Given the description of an element on the screen output the (x, y) to click on. 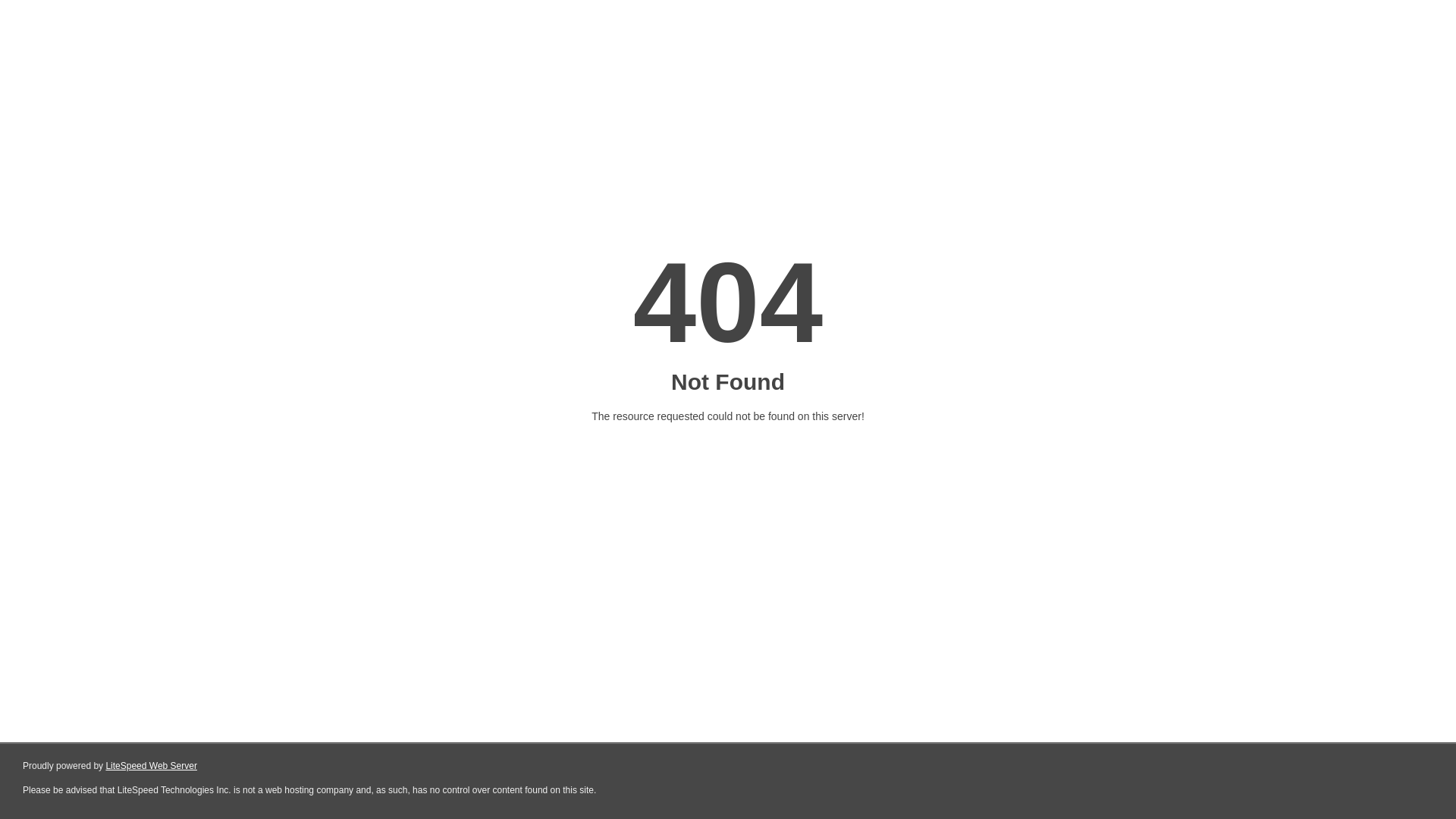
LiteSpeed Web Server Element type: text (151, 765)
